Given the description of an element on the screen output the (x, y) to click on. 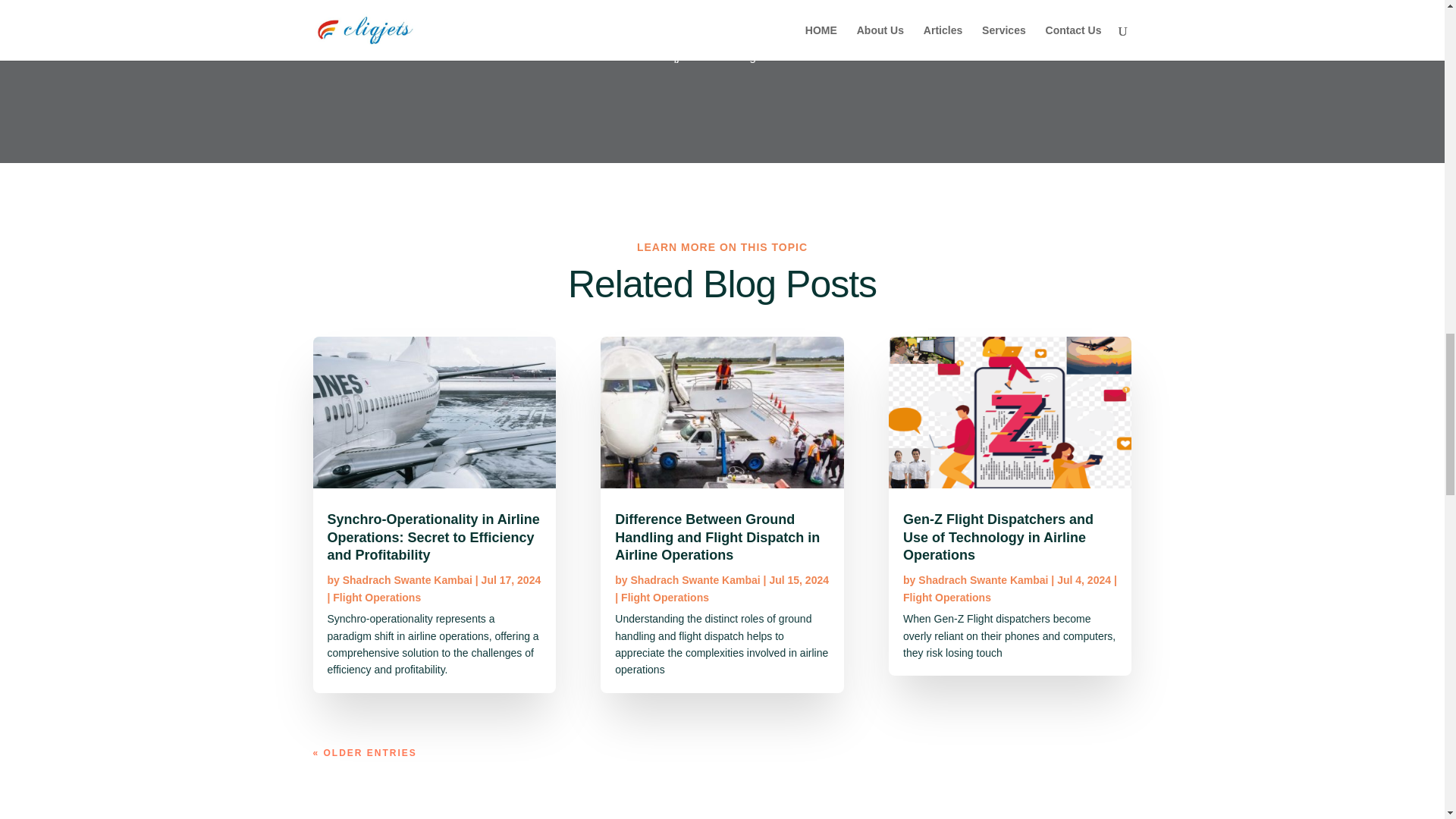
Shadrach Swante Kambai (983, 580)
Shadrach Swante Kambai (695, 580)
Flight Operations (946, 597)
Flight Operations (665, 597)
Posts by Shadrach Swante Kambai (406, 580)
Posts by Shadrach Swante Kambai (983, 580)
Posts by Shadrach Swante Kambai (695, 580)
Flight Operations (376, 597)
Shadrach Swante Kambai (406, 580)
